Given the description of an element on the screen output the (x, y) to click on. 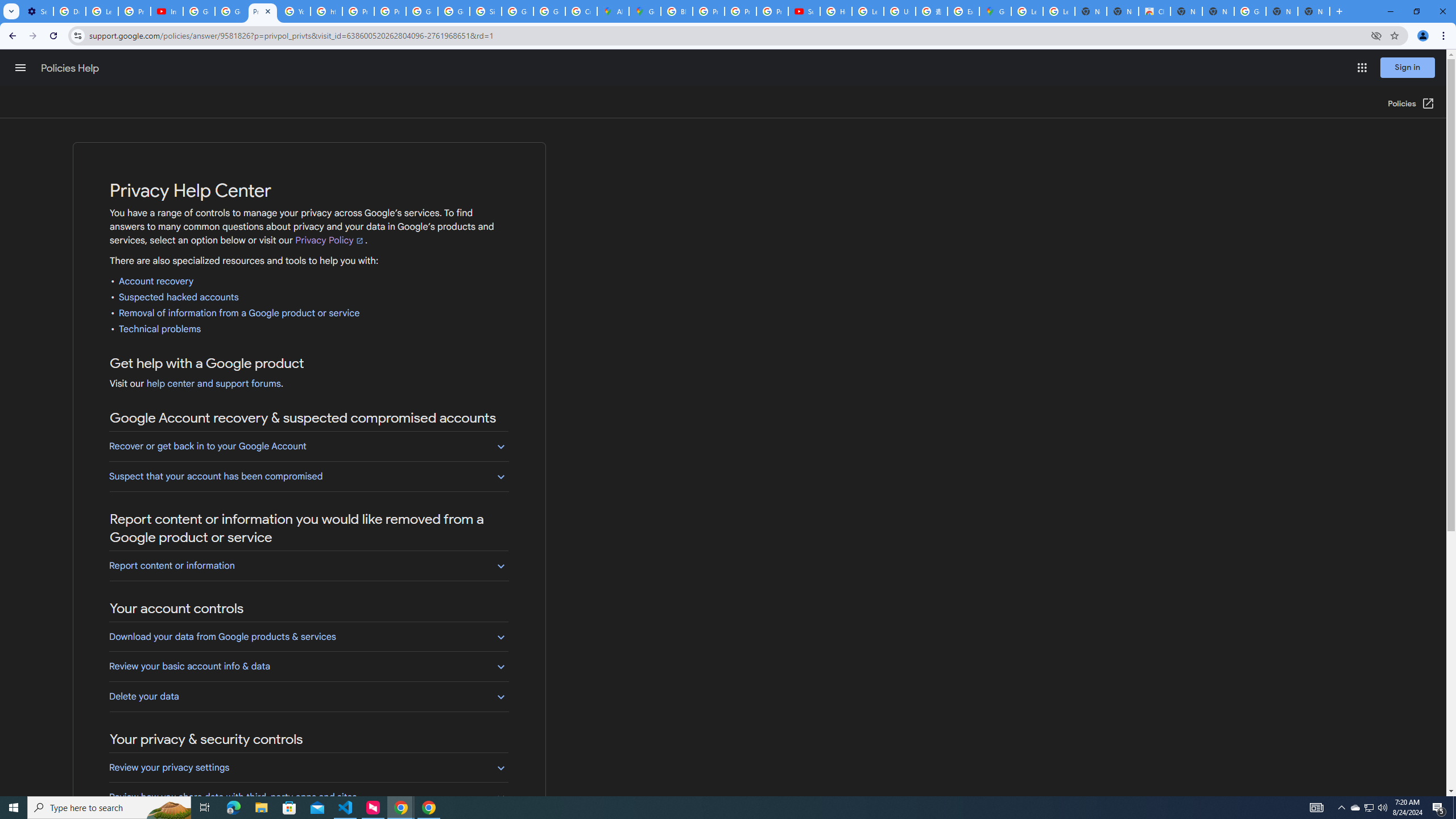
Policies (Open in a new window) (1411, 103)
Report content or information (308, 565)
Introduction | Google Privacy Policy - YouTube (166, 11)
Privacy Help Center - Policies Help (262, 11)
help center and support forums (213, 383)
Blogger Policies and Guidelines - Transparency Center (676, 11)
